Given the description of an element on the screen output the (x, y) to click on. 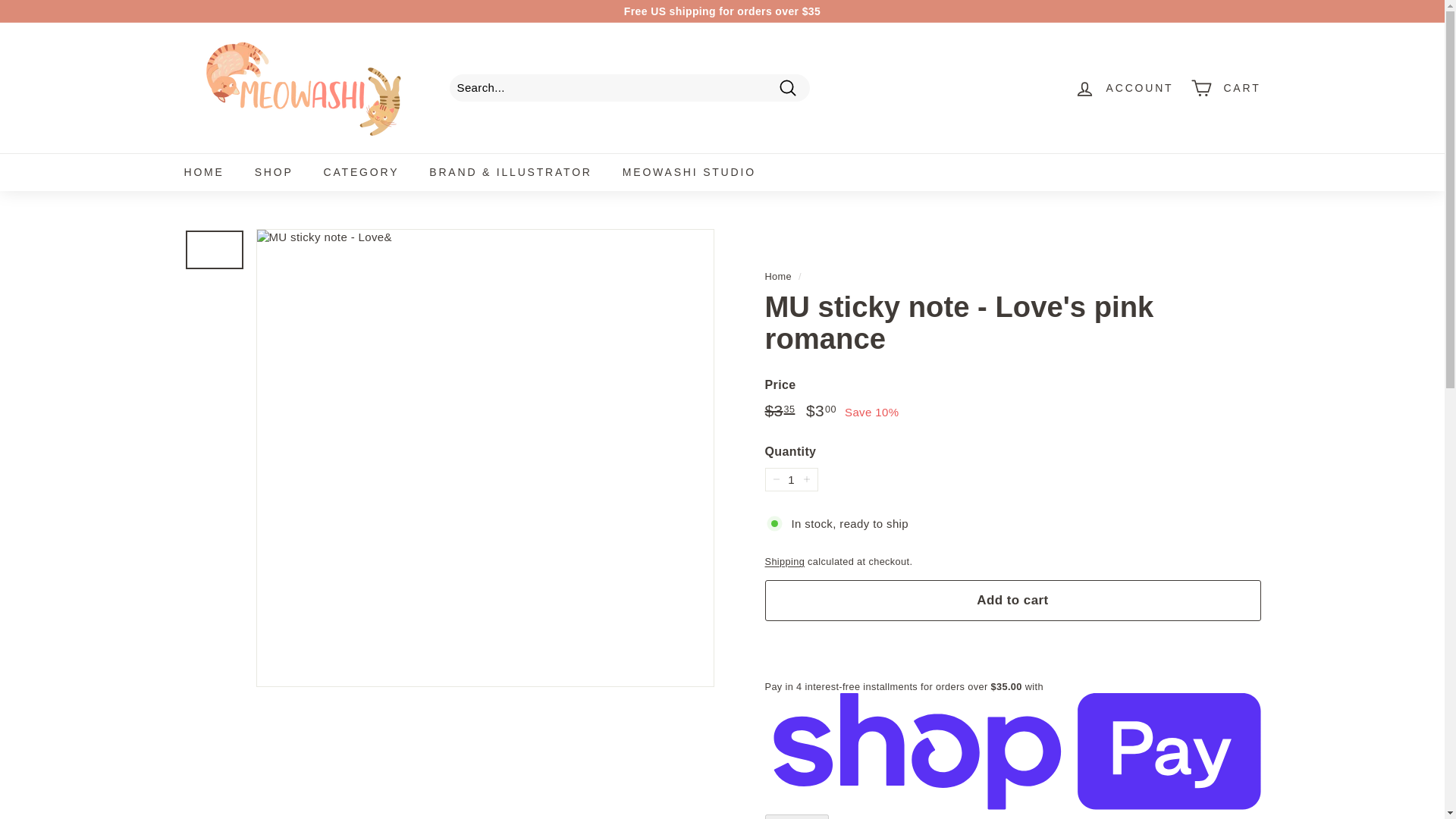
SHOP (274, 171)
ACCOUNT (1123, 87)
CATEGORY (361, 171)
Back to the frontpage (778, 276)
1 (790, 479)
HOME (203, 171)
